Given the description of an element on the screen output the (x, y) to click on. 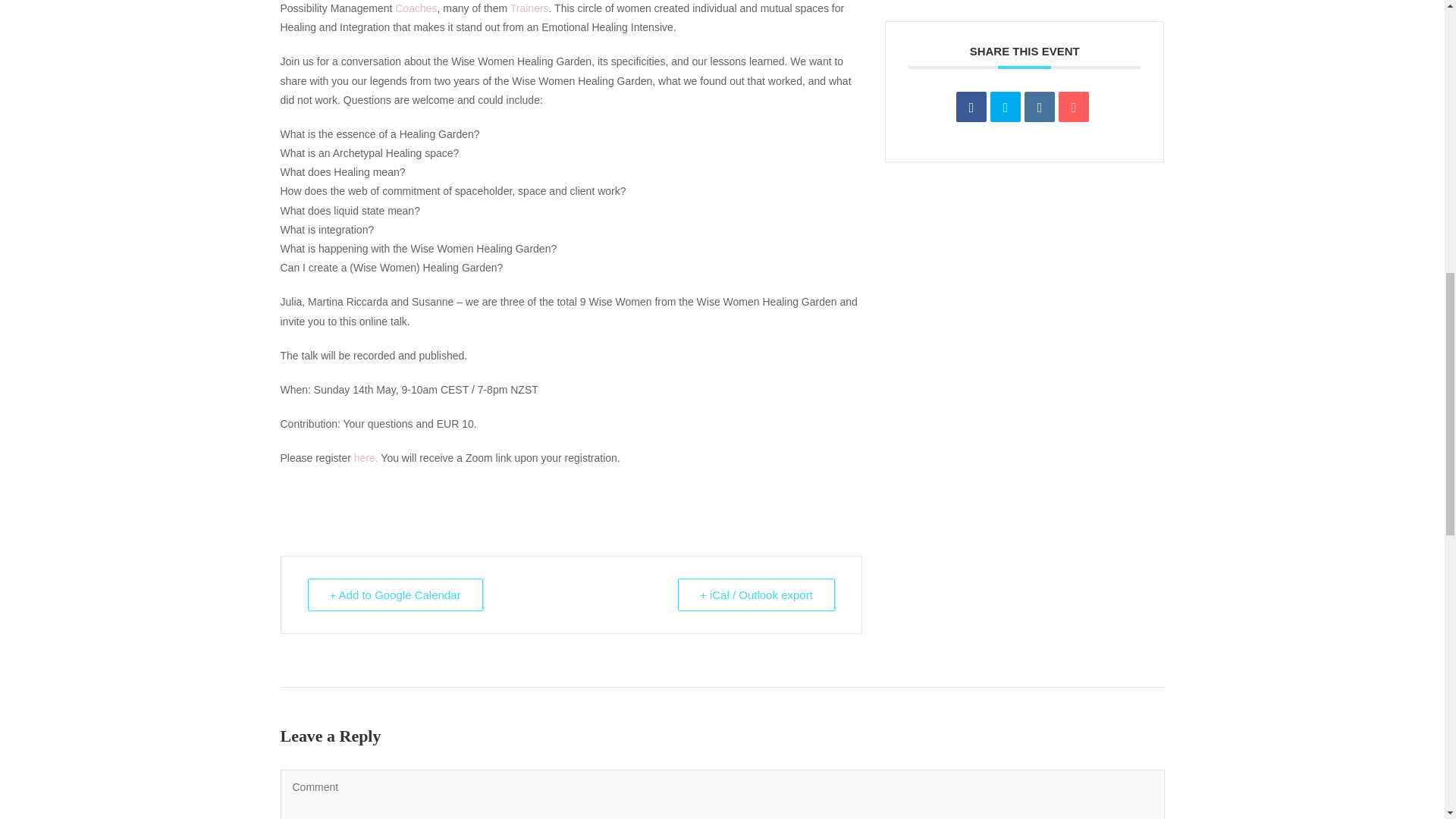
Linkedin (1039, 106)
Share on Facebook (971, 106)
Trainers (529, 8)
Coaches (415, 8)
Tweet (1005, 106)
Email (1073, 106)
here. (365, 458)
